Given the description of an element on the screen output the (x, y) to click on. 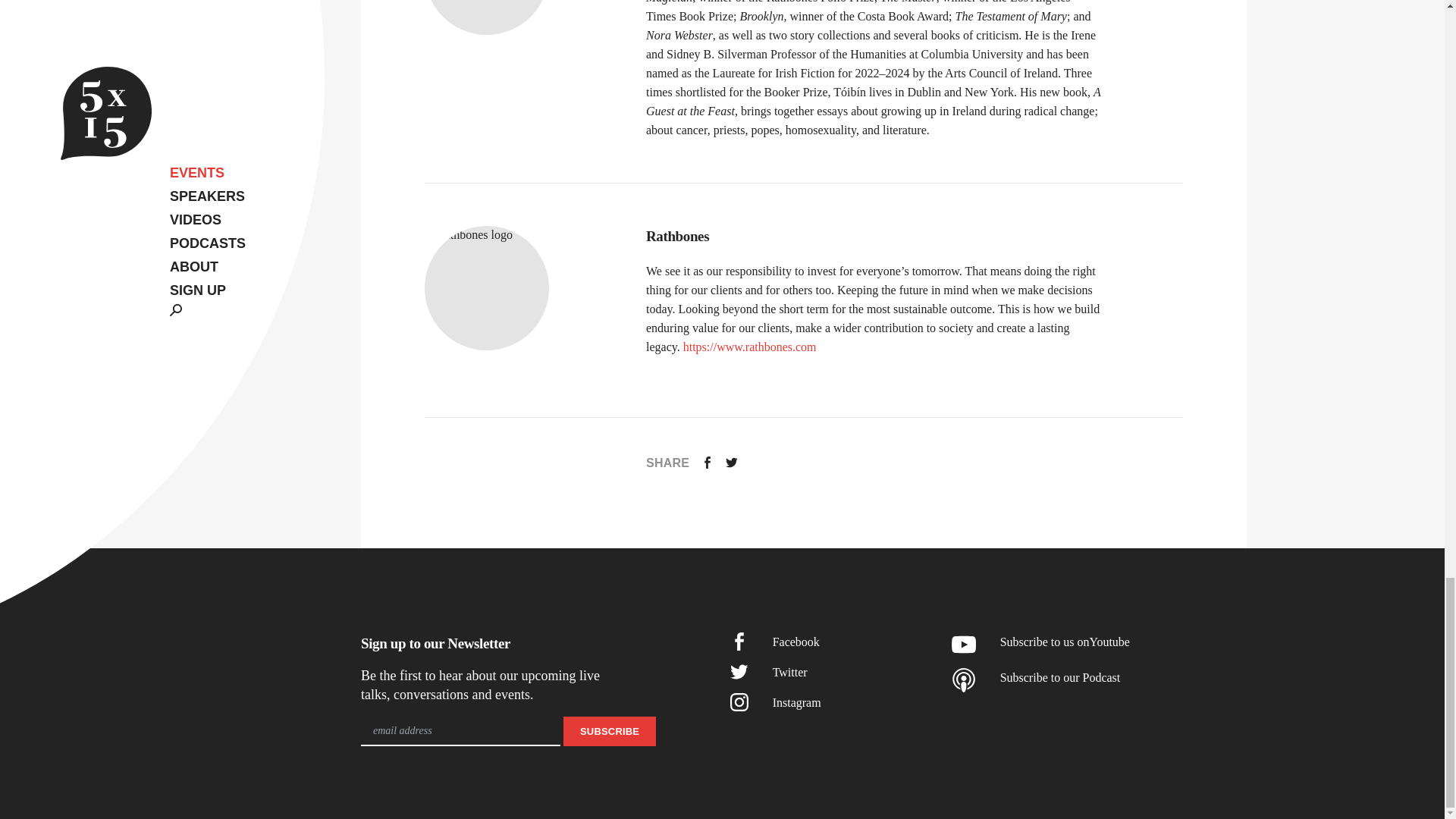
FACEBOOK (707, 462)
Subscribe to us onYoutube (1099, 644)
Facebook (803, 642)
Twitter (803, 672)
Subscribe to our Podcast (1099, 680)
Subscribe (609, 731)
TWITTER (731, 463)
TWITTER (731, 462)
Subscribe (609, 731)
Rathbones (873, 237)
Instagram (803, 702)
FACEBOOK (707, 463)
